Given the description of an element on the screen output the (x, y) to click on. 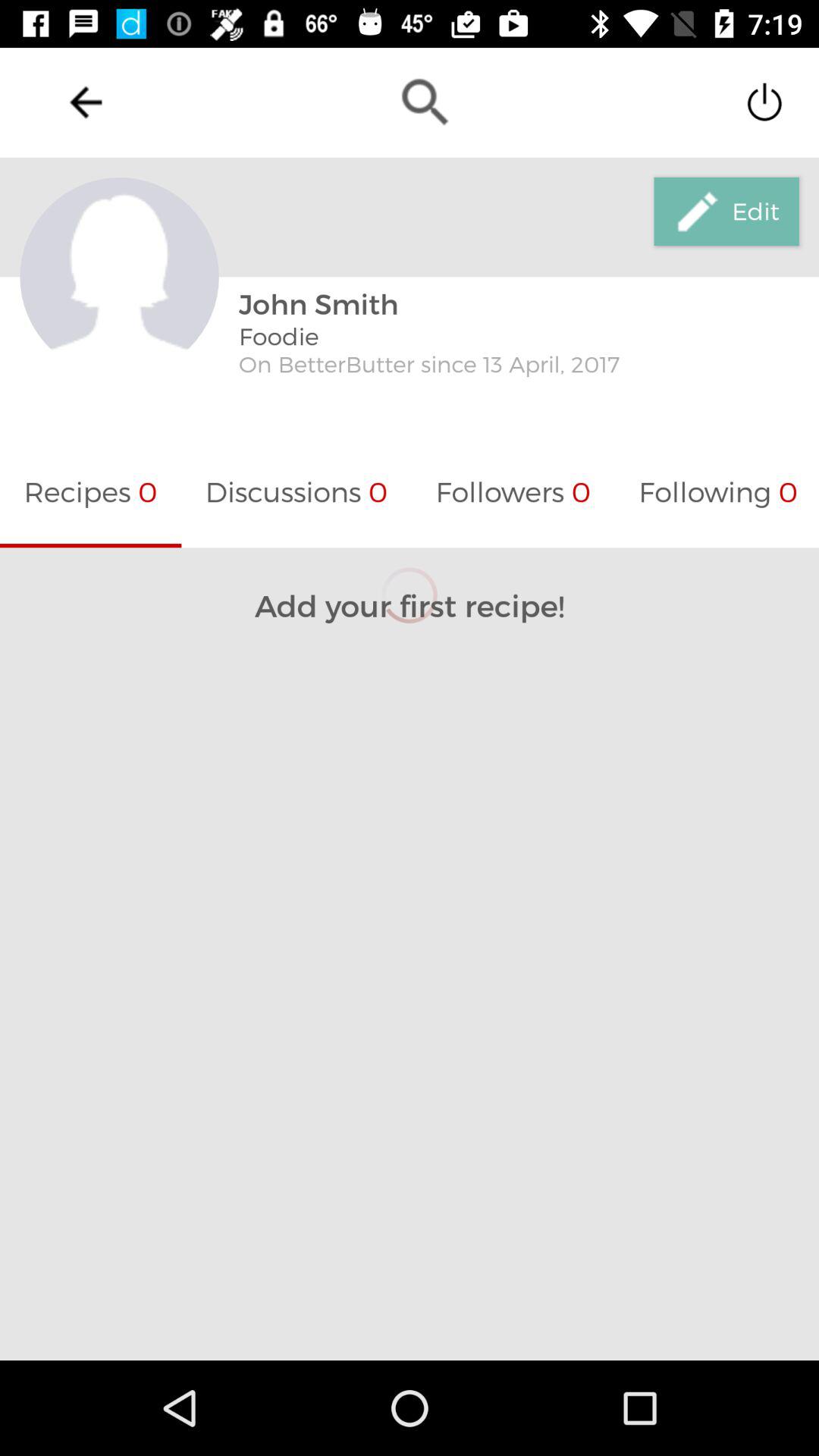
click on the profile icon (119, 277)
